Given the description of an element on the screen output the (x, y) to click on. 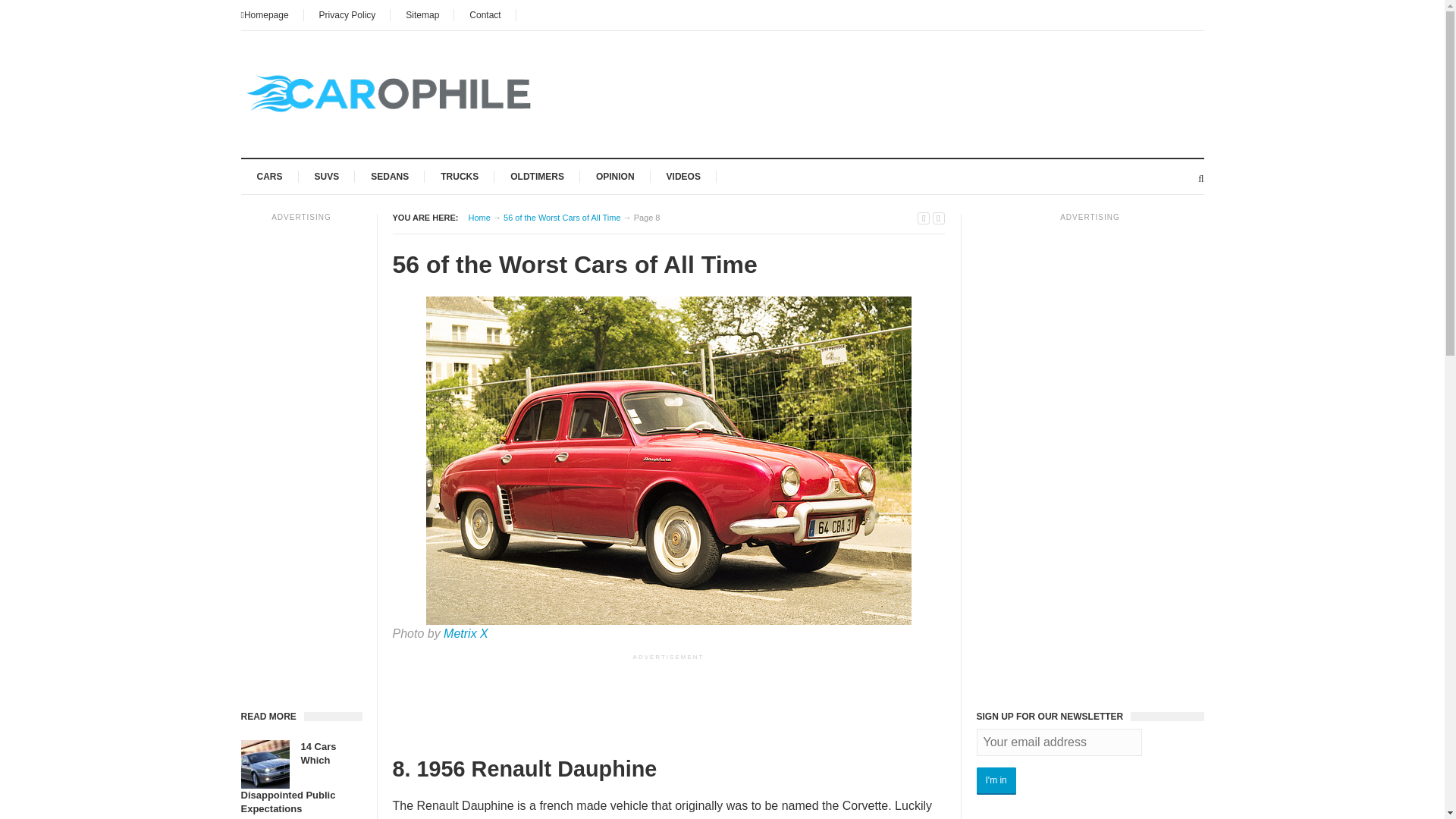
Carophile (479, 216)
Previous Post (923, 217)
I'm in (996, 780)
SEDANS (389, 176)
56 of the Worst Cars of All Time (561, 216)
OPINION (615, 176)
Contact (484, 15)
Metrix X (465, 633)
Home (479, 216)
Homepage (272, 15)
